Given the description of an element on the screen output the (x, y) to click on. 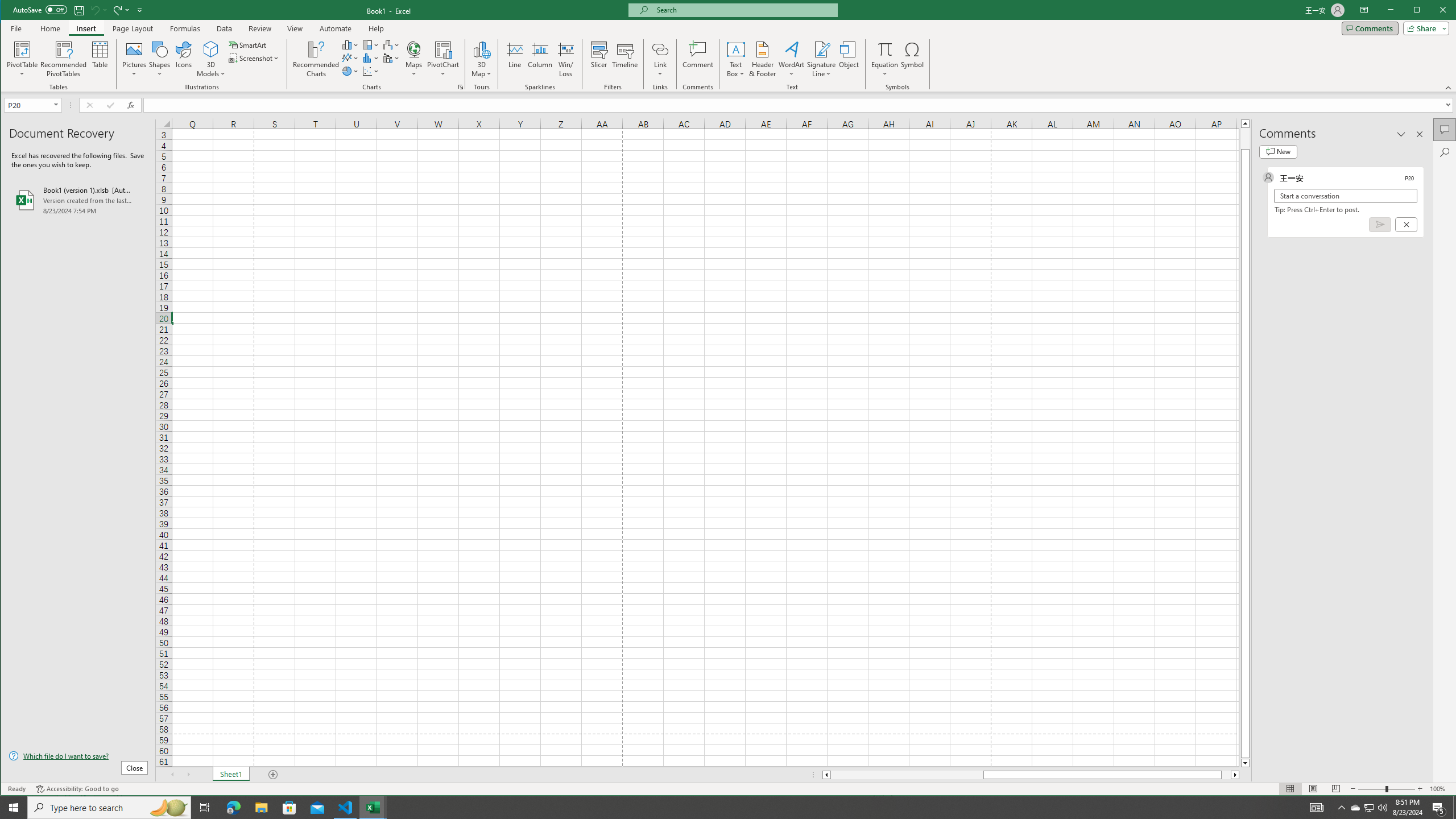
Win/Loss (565, 59)
Equation (884, 59)
Recommended PivotTables (63, 59)
Insert Hierarchy Chart (371, 44)
Running applications (717, 807)
Cancel (1405, 224)
Symbol... (912, 59)
